Given the description of an element on the screen output the (x, y) to click on. 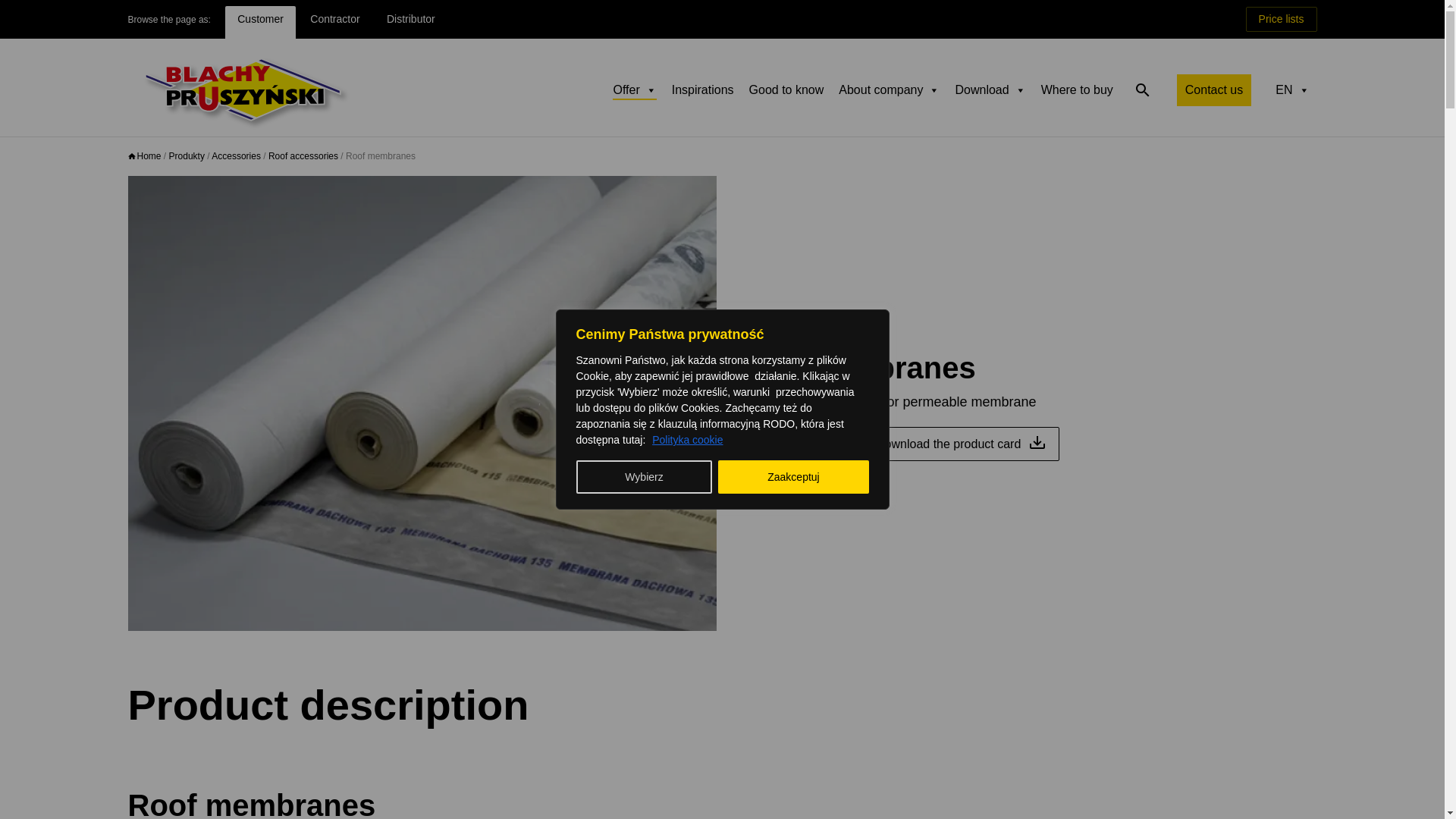
Customer (260, 21)
Offer (634, 90)
Distributor (410, 21)
Wybierz (644, 476)
Zaakceptuj (792, 476)
Contractor (334, 21)
Polityka cookie (686, 439)
Price lists (1281, 19)
